Given the description of an element on the screen output the (x, y) to click on. 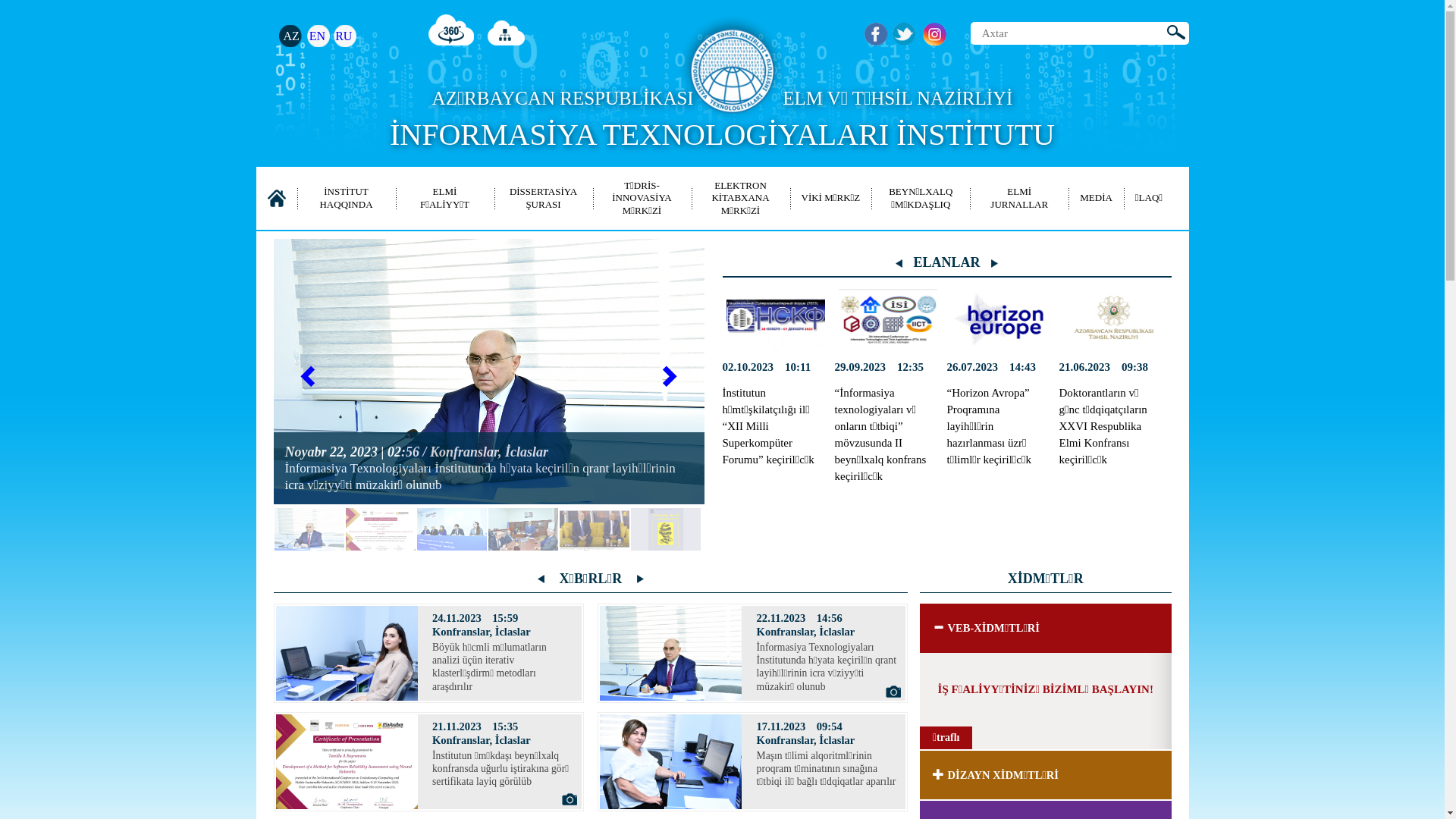
a Element type: text (903, 34)
HOME Element type: text (275, 197)
a Element type: text (451, 29)
a Element type: text (876, 34)
ELANLAR Element type: text (946, 261)
EN Element type: text (316, 36)
AZ Element type: text (291, 36)
RU Element type: text (343, 36)
a Element type: text (934, 34)
